Given the description of an element on the screen output the (x, y) to click on. 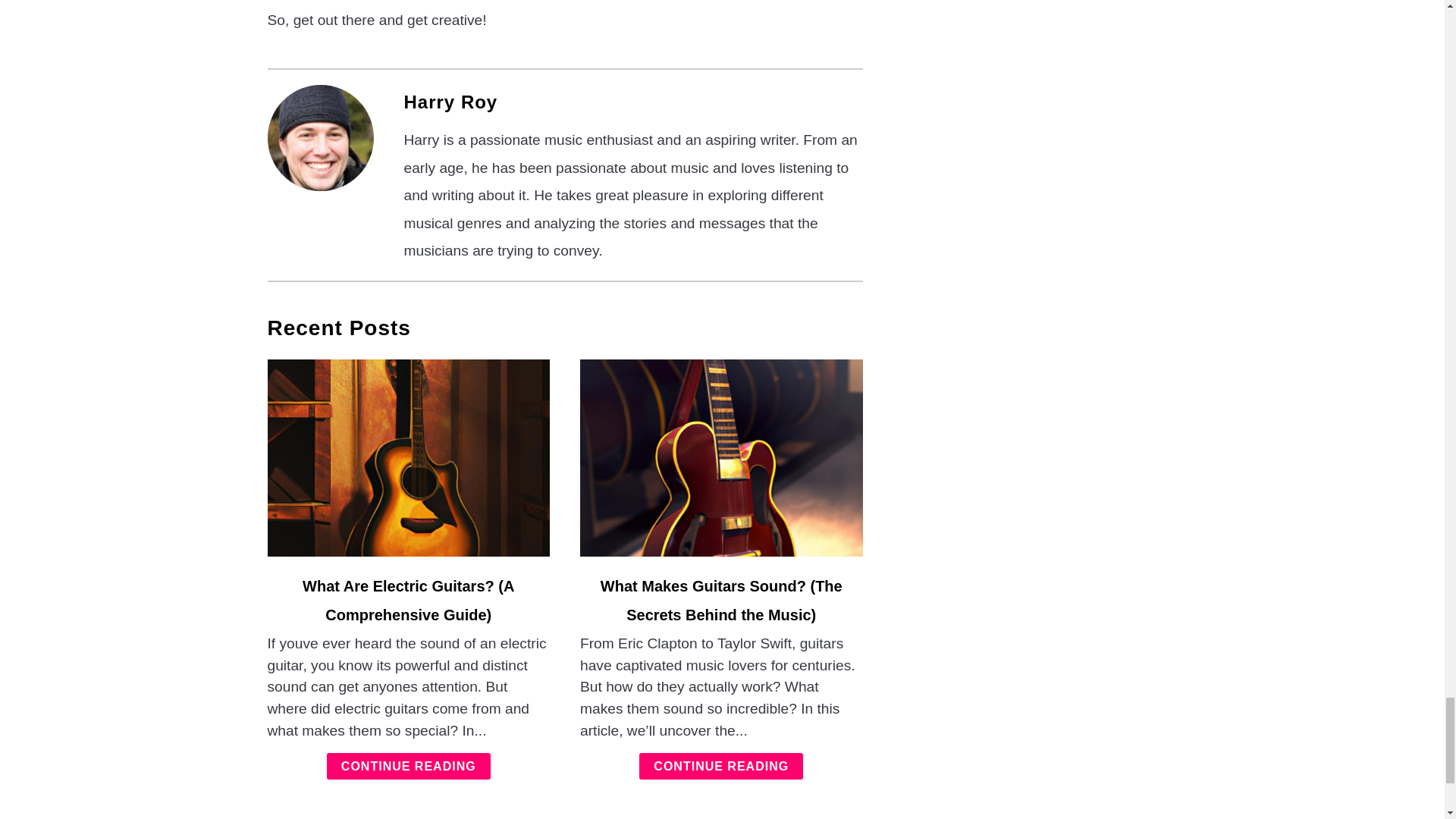
CONTINUE READING (408, 765)
Harry Roy (450, 101)
CONTINUE READING (721, 765)
